Given the description of an element on the screen output the (x, y) to click on. 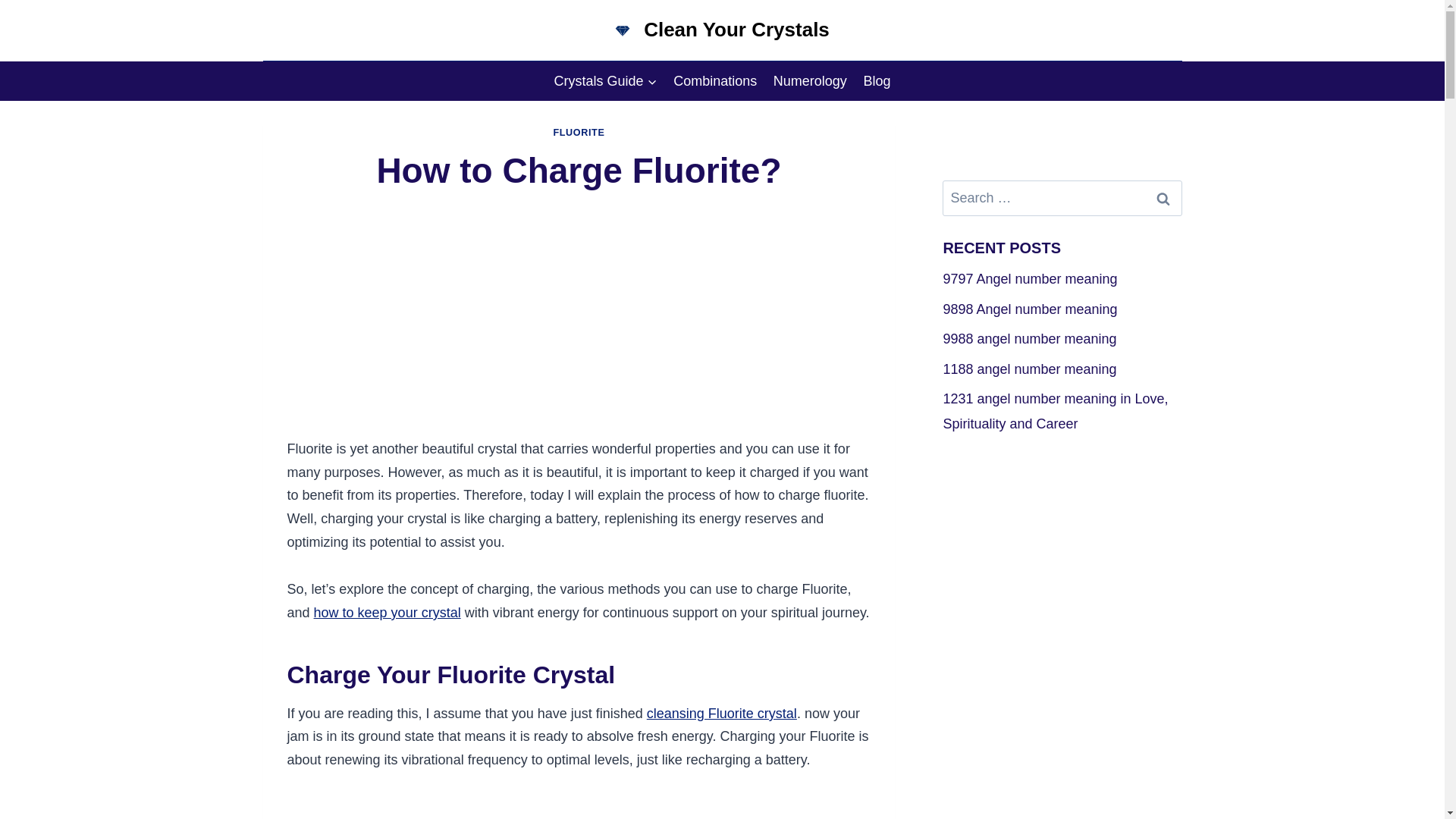
Numerology (810, 80)
Search (1161, 198)
9797 Angel number meaning  (1031, 278)
FLUORITE (578, 132)
1231 angel number meaning in Love, Spirituality and Career  (1054, 410)
cleansing Fluorite crystal (721, 713)
1188 angel number meaning  (1030, 368)
Search (1161, 198)
Blog (877, 80)
Clean Your Crystals (721, 29)
9898 Angel number meaning (1029, 309)
Crystals Guide (605, 80)
Advertisement (578, 807)
Search (1161, 198)
Combinations (715, 80)
